Given the description of an element on the screen output the (x, y) to click on. 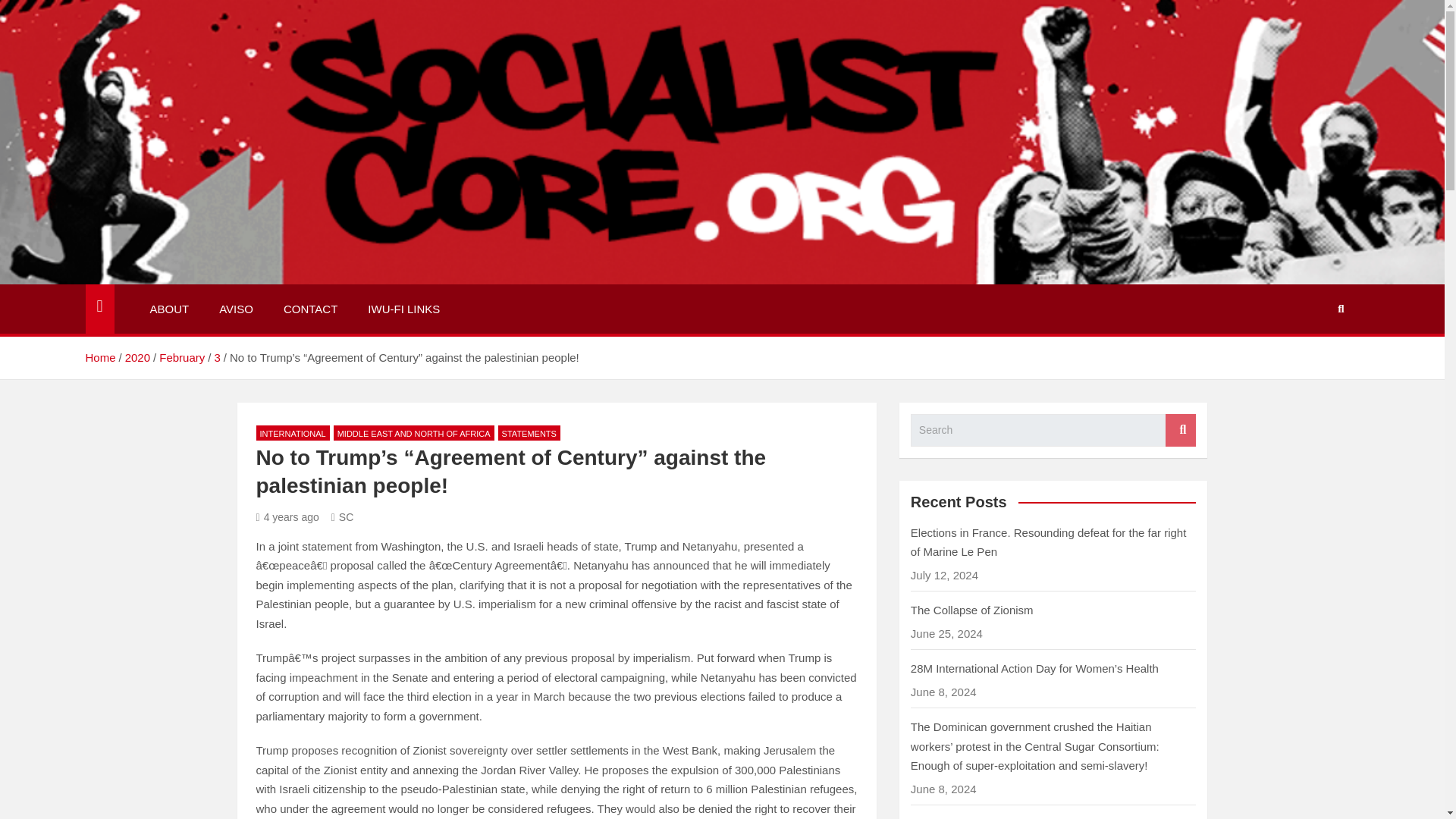
2020 (137, 357)
February (181, 357)
IWU-FI LINKS (403, 309)
AVISO (235, 309)
CONTACT (309, 309)
INTERNATIONAL (293, 433)
SC (342, 517)
Home (99, 357)
MIDDLE EAST AND NORTH OF AFRICA (414, 433)
4 years ago (287, 517)
STATEMENTS (528, 433)
ABOUT (170, 309)
Search (1180, 430)
The Collapse of Zionism (972, 609)
